Given the description of an element on the screen output the (x, y) to click on. 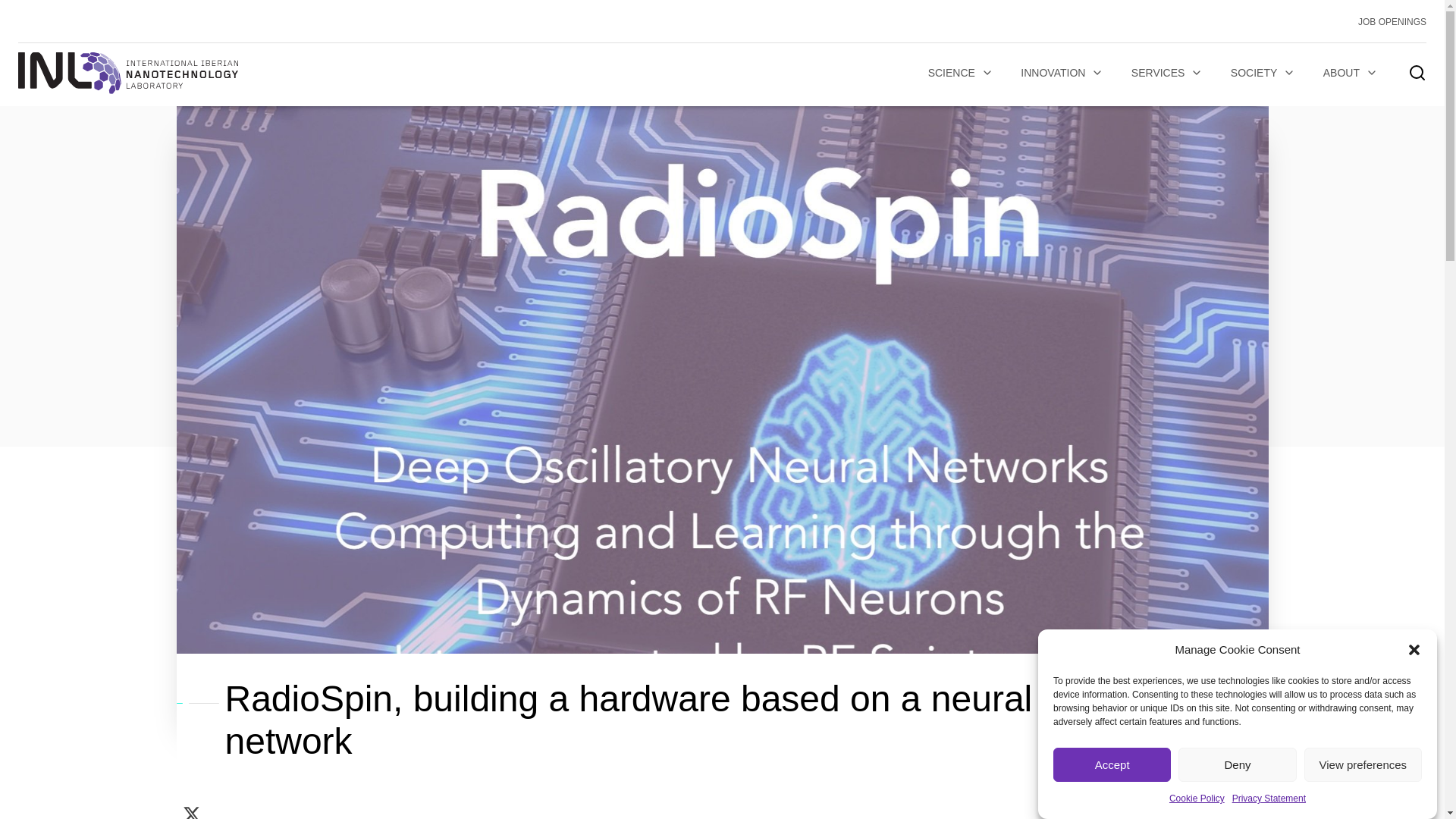
INL home (127, 73)
SERVICES (1167, 72)
Share on Twitter (191, 809)
SOCIETY (1262, 72)
Subscribe (331, 589)
SCIENCE (960, 72)
INNOVATION (1062, 72)
